Given the description of an element on the screen output the (x, y) to click on. 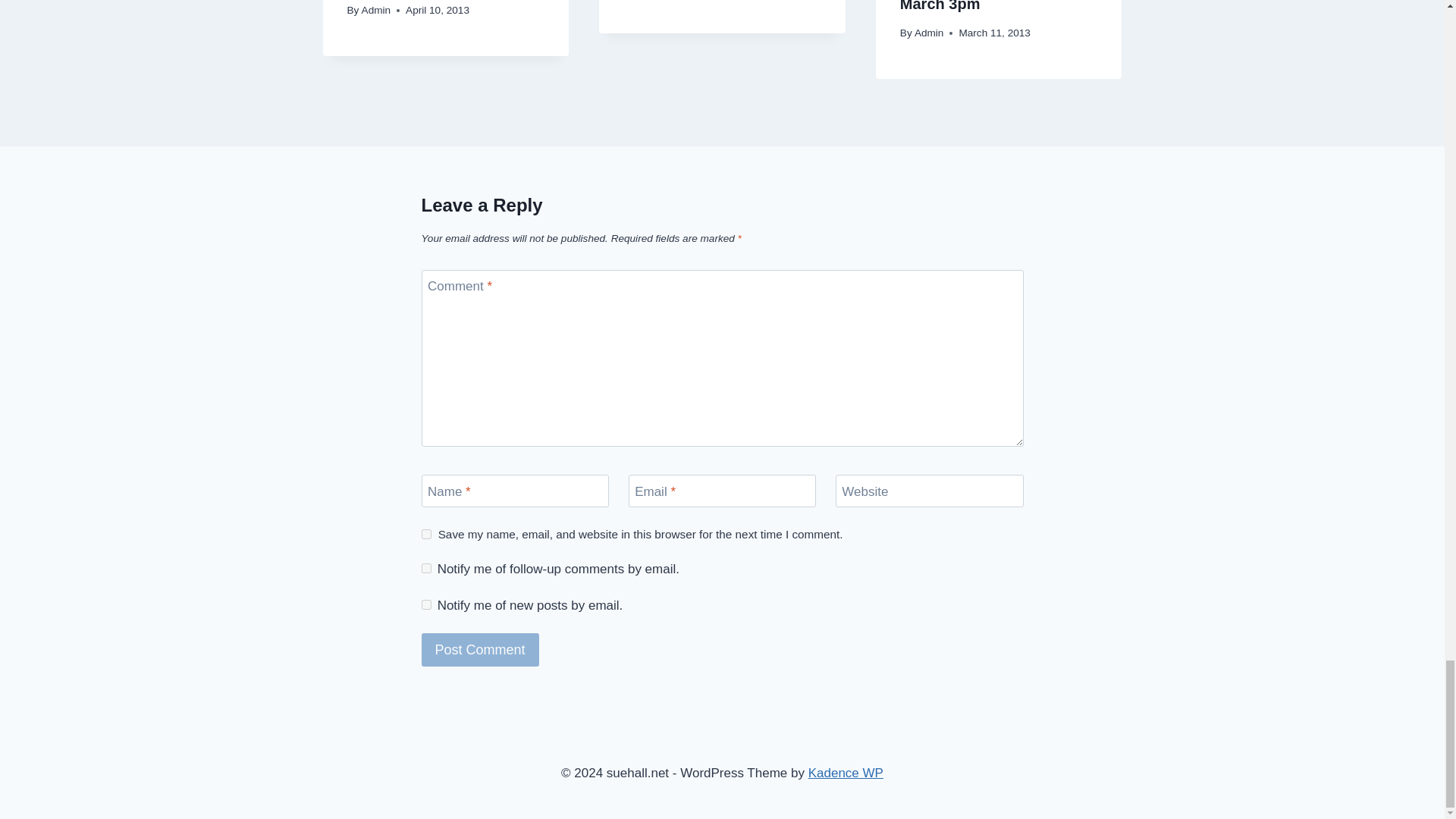
Post Comment (480, 649)
subscribe (426, 568)
yes (426, 533)
subscribe (426, 604)
